Given the description of an element on the screen output the (x, y) to click on. 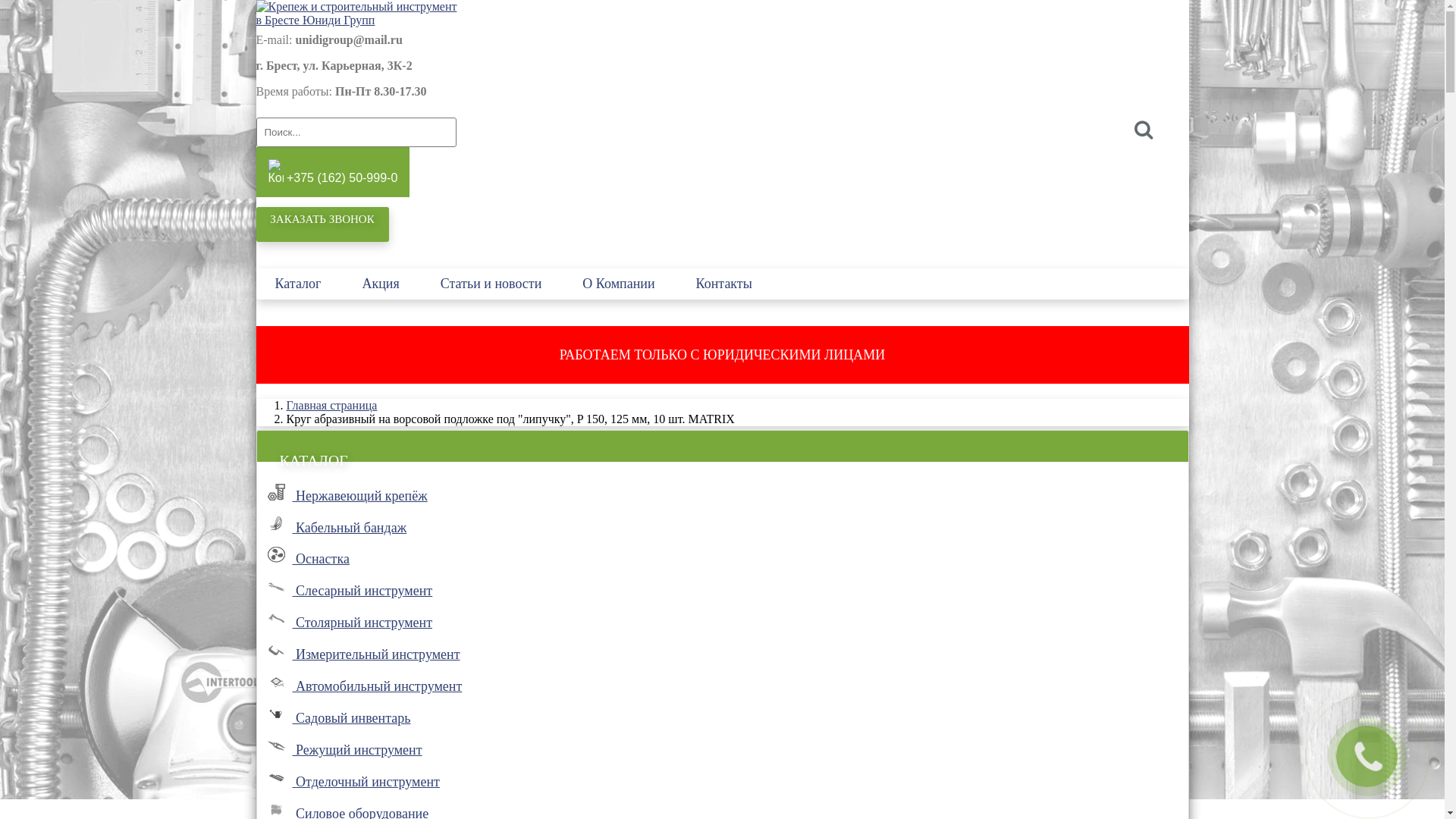
+375 (162) 50-999-0 Element type: text (333, 172)
